Given the description of an element on the screen output the (x, y) to click on. 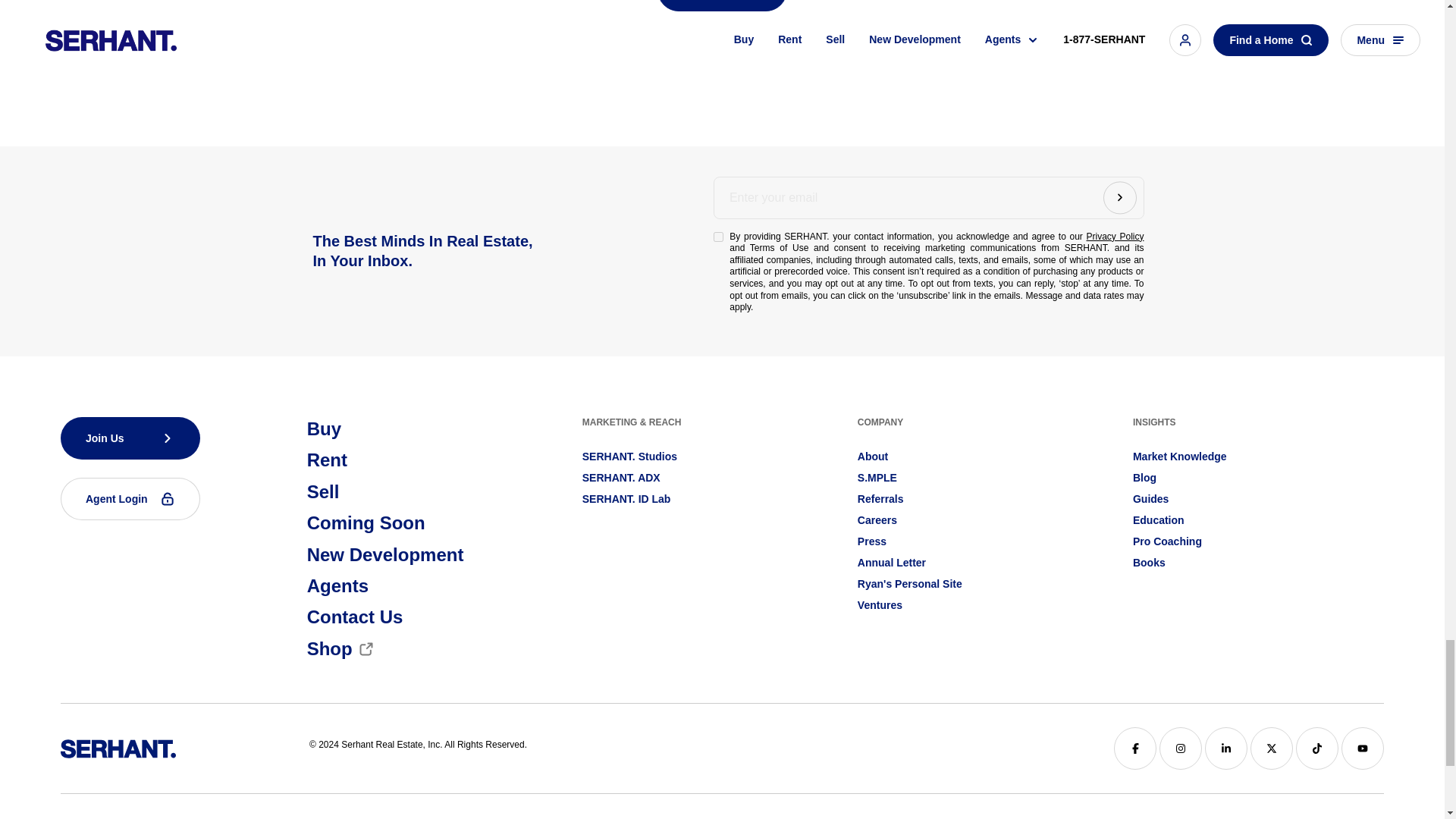
SERHANT. S.MPLE (876, 477)
Sell It Pro Coaching (1167, 540)
on (718, 236)
